Given the description of an element on the screen output the (x, y) to click on. 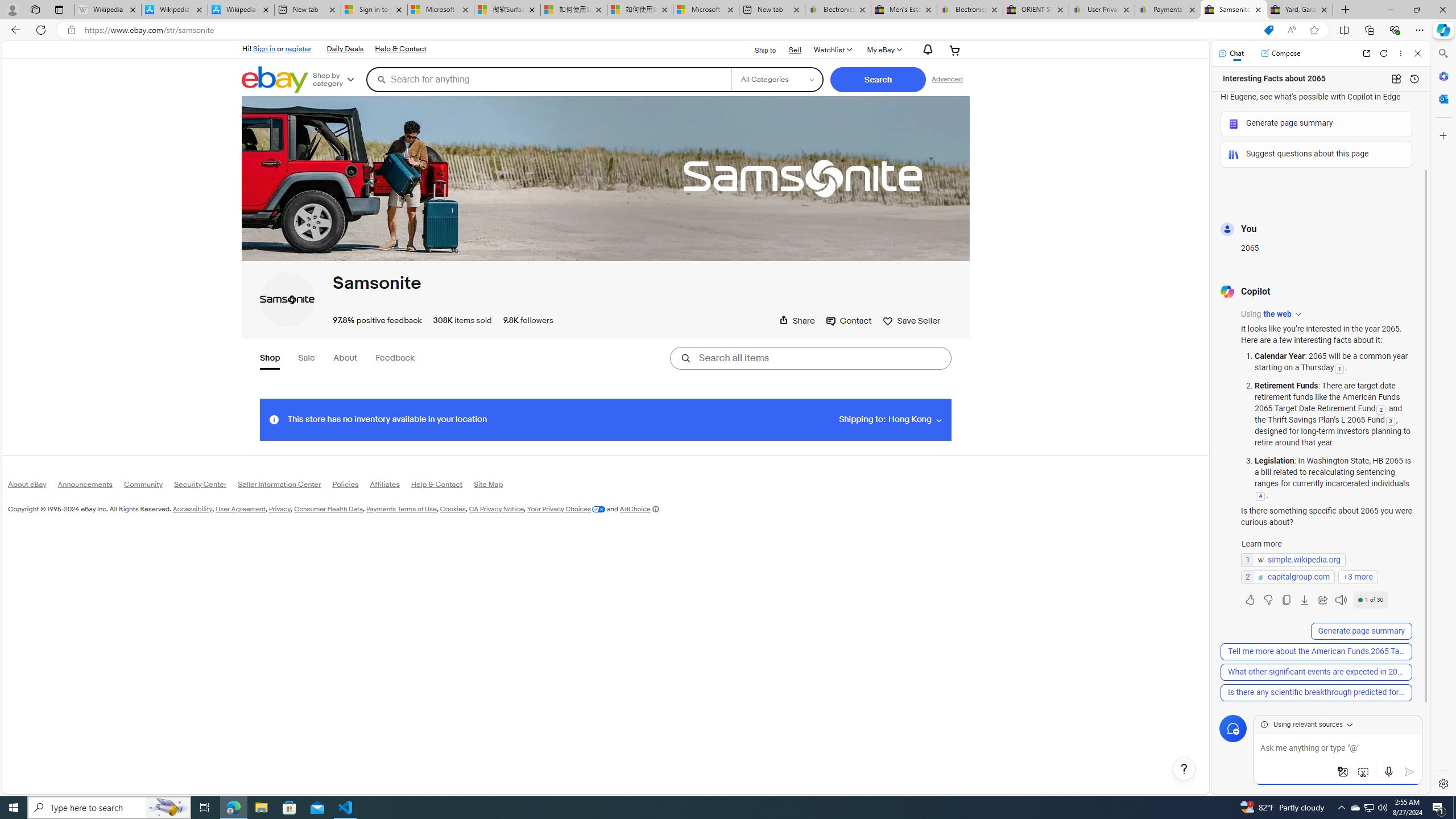
Compose (1280, 52)
Help & Contact (442, 486)
My eBayExpand My eBay (883, 49)
Search all items (810, 357)
Your Privacy Choices (566, 508)
Ship to (758, 50)
Sign in to your Microsoft account (374, 9)
Payments Terms of Use (400, 508)
Select a category for search (776, 78)
Site Map (494, 486)
